Given the description of an element on the screen output the (x, y) to click on. 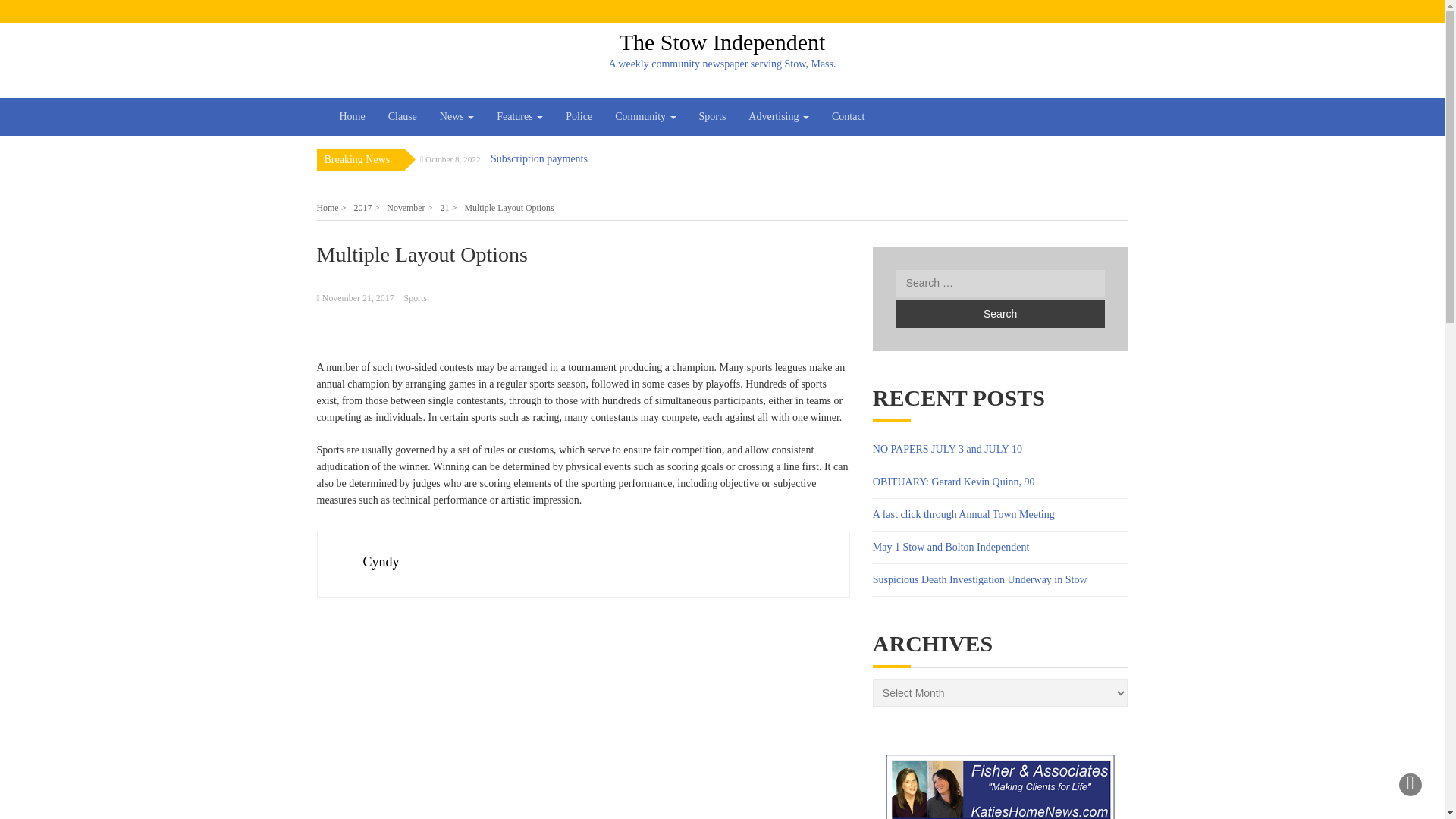
News (456, 116)
Police (579, 116)
NO PAPERS JULY 3 and JULY 10 (947, 449)
News (456, 116)
Features (519, 116)
Sports (415, 297)
OBITUARY: Gerard Kevin Quinn, 90 (953, 481)
Community (645, 116)
Home (331, 207)
Clause (402, 116)
Suspicious Death Investigation Underway in Stow (979, 579)
Sports (712, 116)
November (409, 207)
2017 (366, 207)
November 21, 2017 (357, 297)
